Given the description of an element on the screen output the (x, y) to click on. 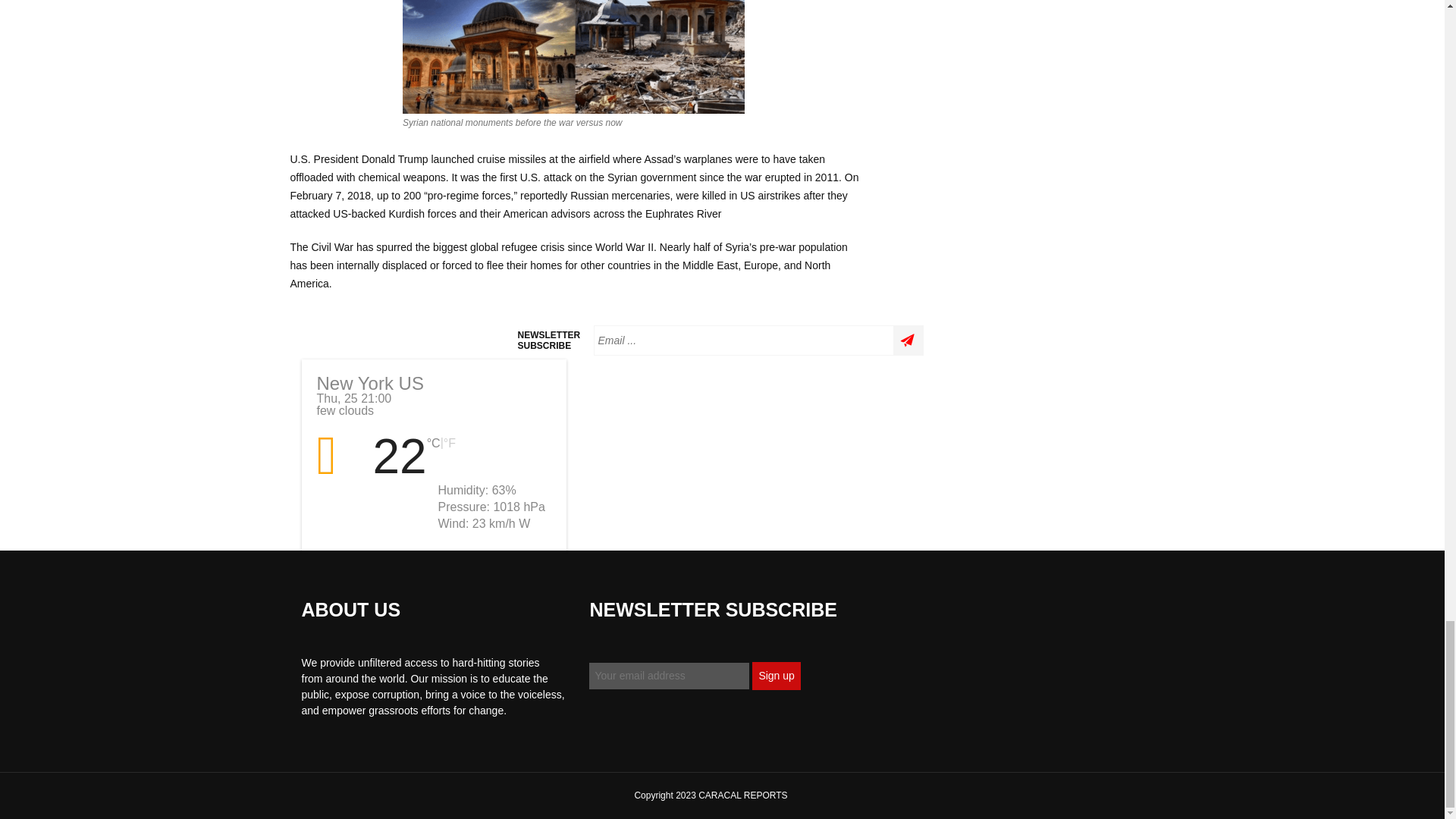
few clouds (341, 456)
Sign up (775, 675)
